Given the description of an element on the screen output the (x, y) to click on. 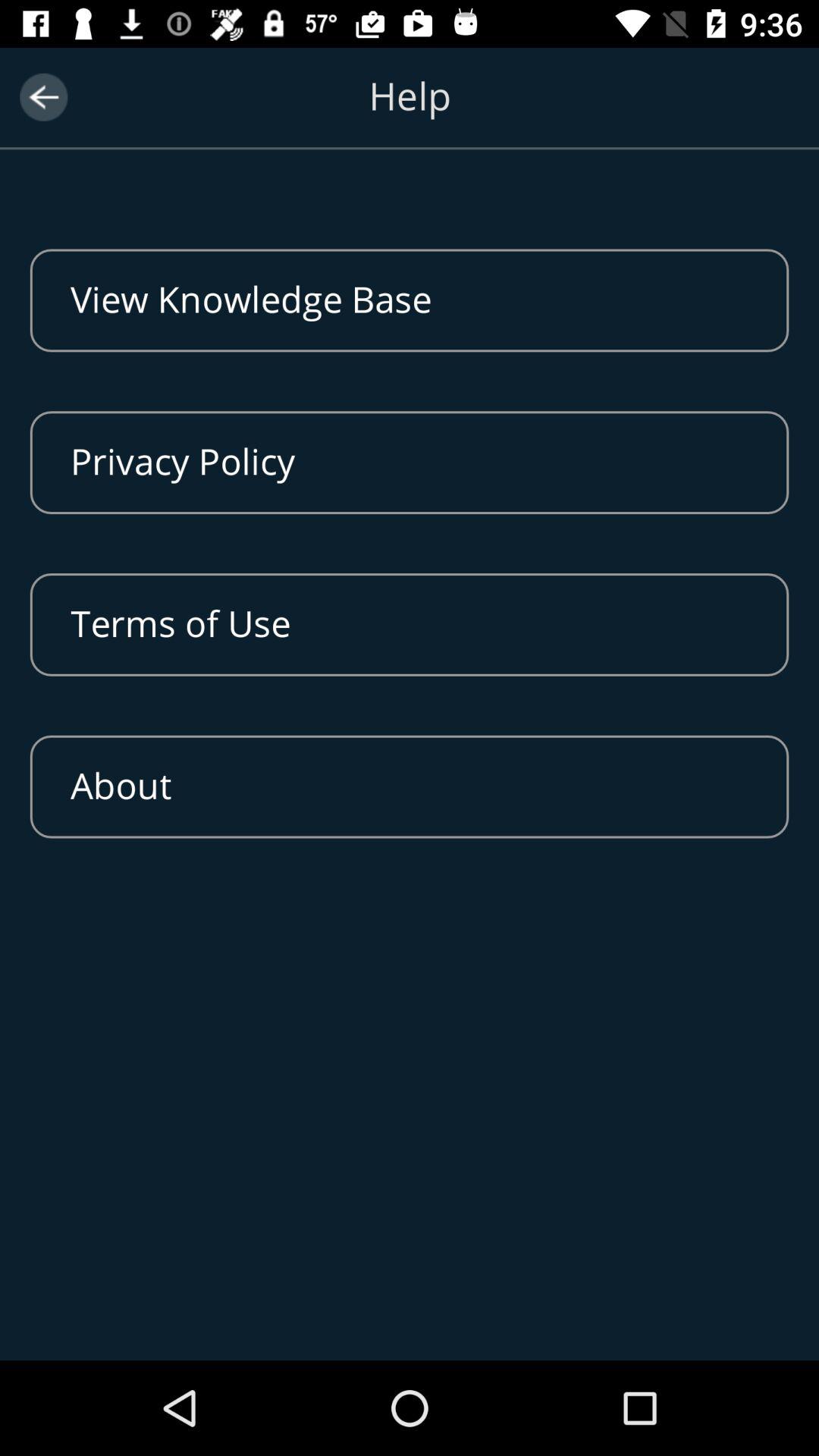
click on terms of use (409, 625)
click on about (409, 786)
click on the help option (409, 114)
select a button view knowledge base on page (409, 300)
